Given the description of an element on the screen output the (x, y) to click on. 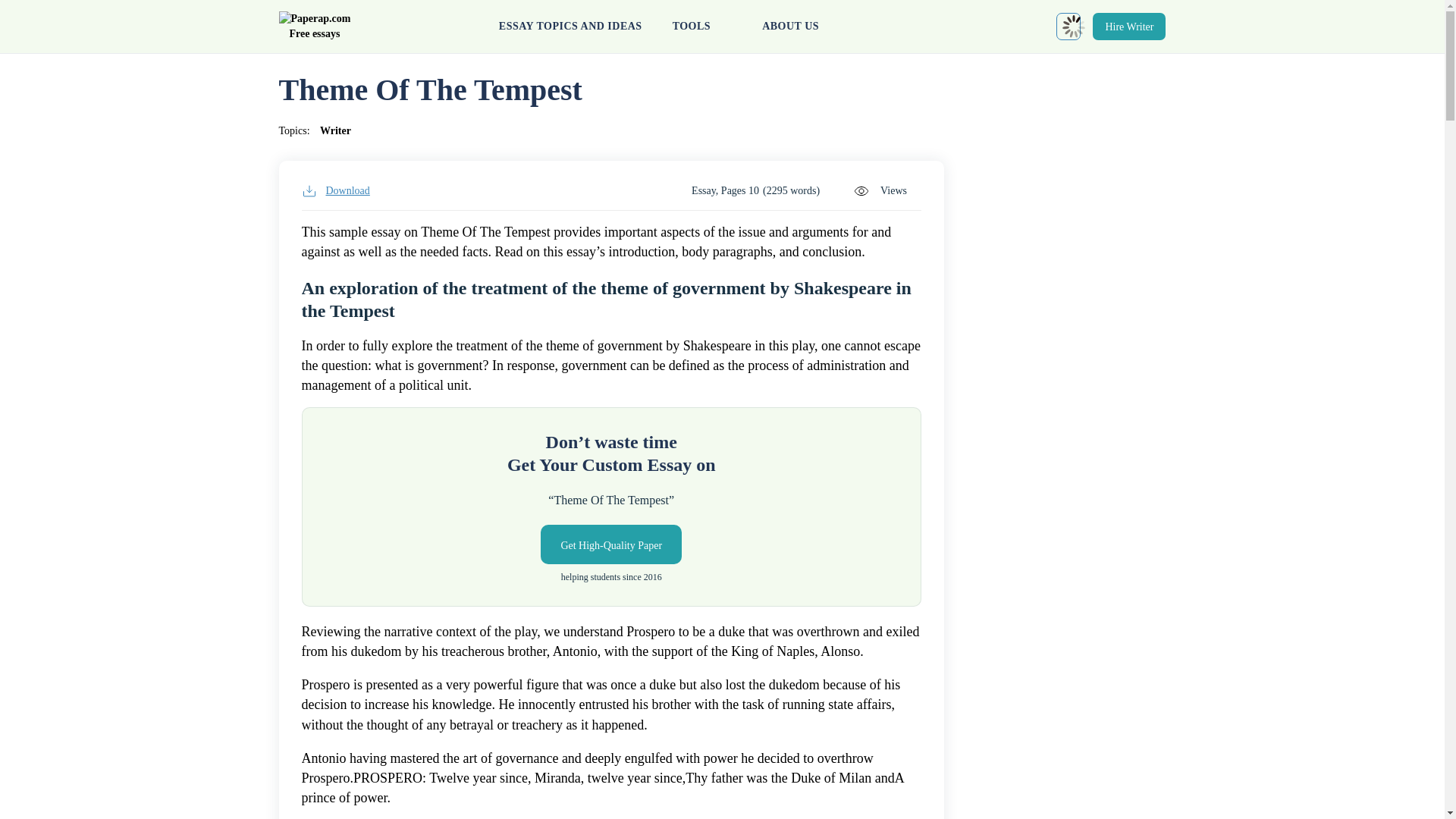
Free essays (314, 26)
ESSAY TOPICS AND IDEAS (570, 26)
TOOLS (703, 26)
Writer (335, 130)
Hire Writer (1129, 26)
Download (335, 191)
Get High-Quality Paper (610, 544)
ABOUT US (790, 26)
